Given the description of an element on the screen output the (x, y) to click on. 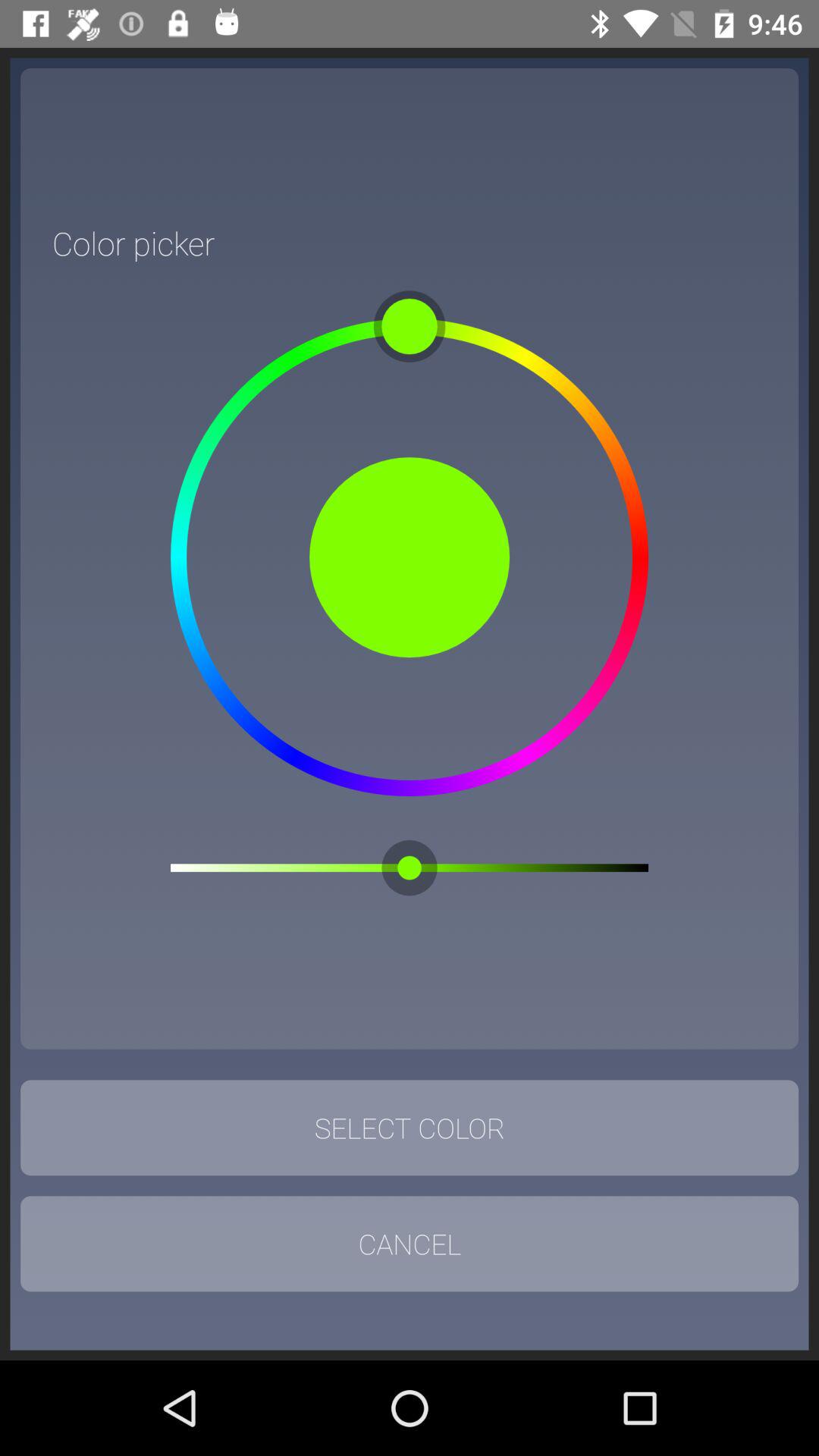
swipe to select color icon (409, 1127)
